Given the description of an element on the screen output the (x, y) to click on. 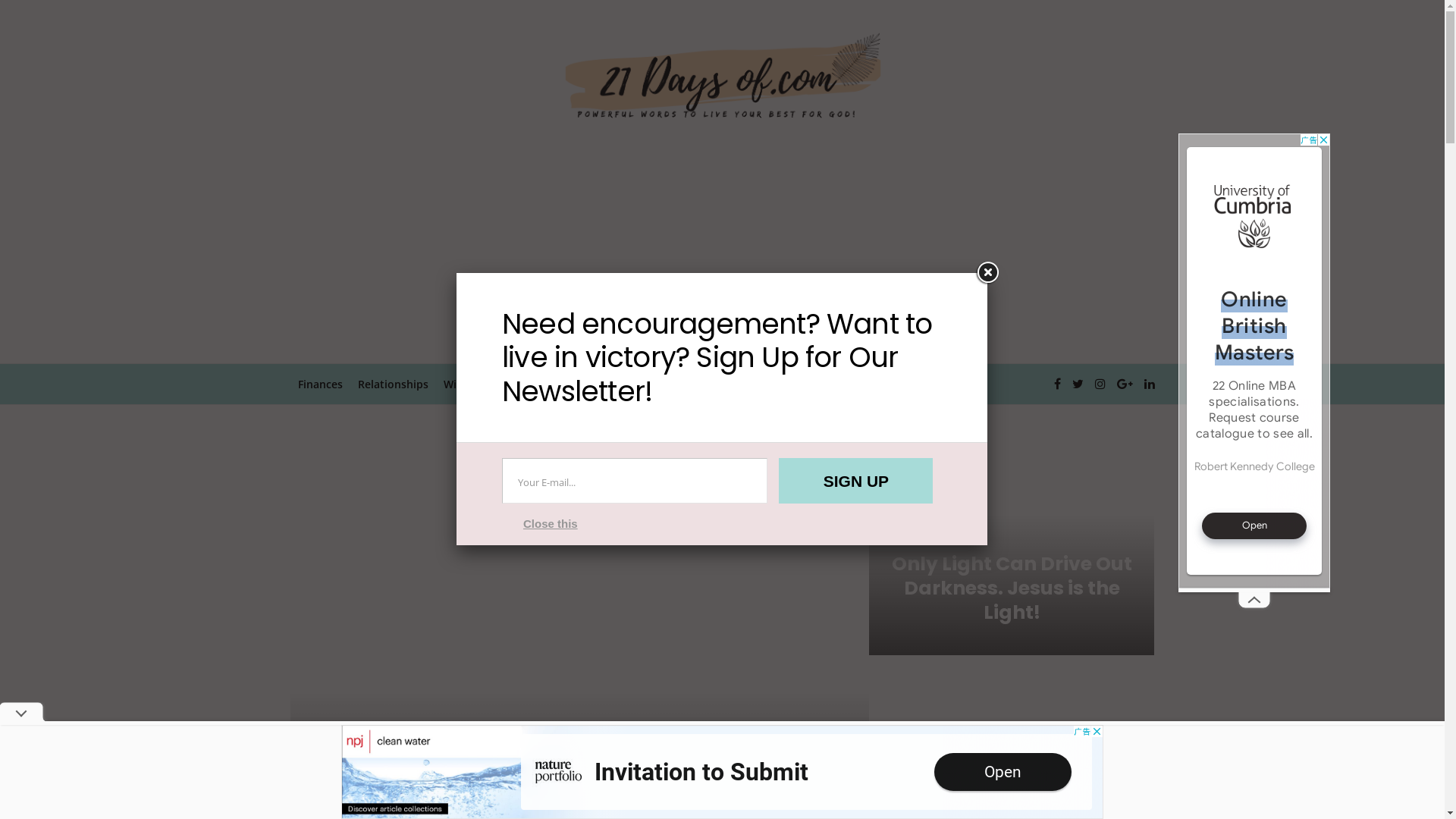
Wisdom Element type: text (463, 384)
Close this Element type: text (550, 523)
Close Element type: hover (987, 272)
About Kem Element type: text (609, 384)
Powerful Prayers + Scriptures Element type: text (730, 384)
Advertisement Element type: hover (721, 249)
Only Light Can Drive Out Darkness. Jesus is the Light! Element type: text (1011, 587)
Kem's Books Element type: text (532, 384)
Relationships Element type: text (393, 384)
July 13, 2023 Element type: text (578, 792)
Finances Element type: text (319, 384)
Devotionals Element type: text (852, 384)
SIGN UP Element type: text (855, 480)
Advertisement Element type: hover (1254, 360)
10 Scriptures To Read When You Need Direction From God Element type: text (579, 752)
